Given the description of an element on the screen output the (x, y) to click on. 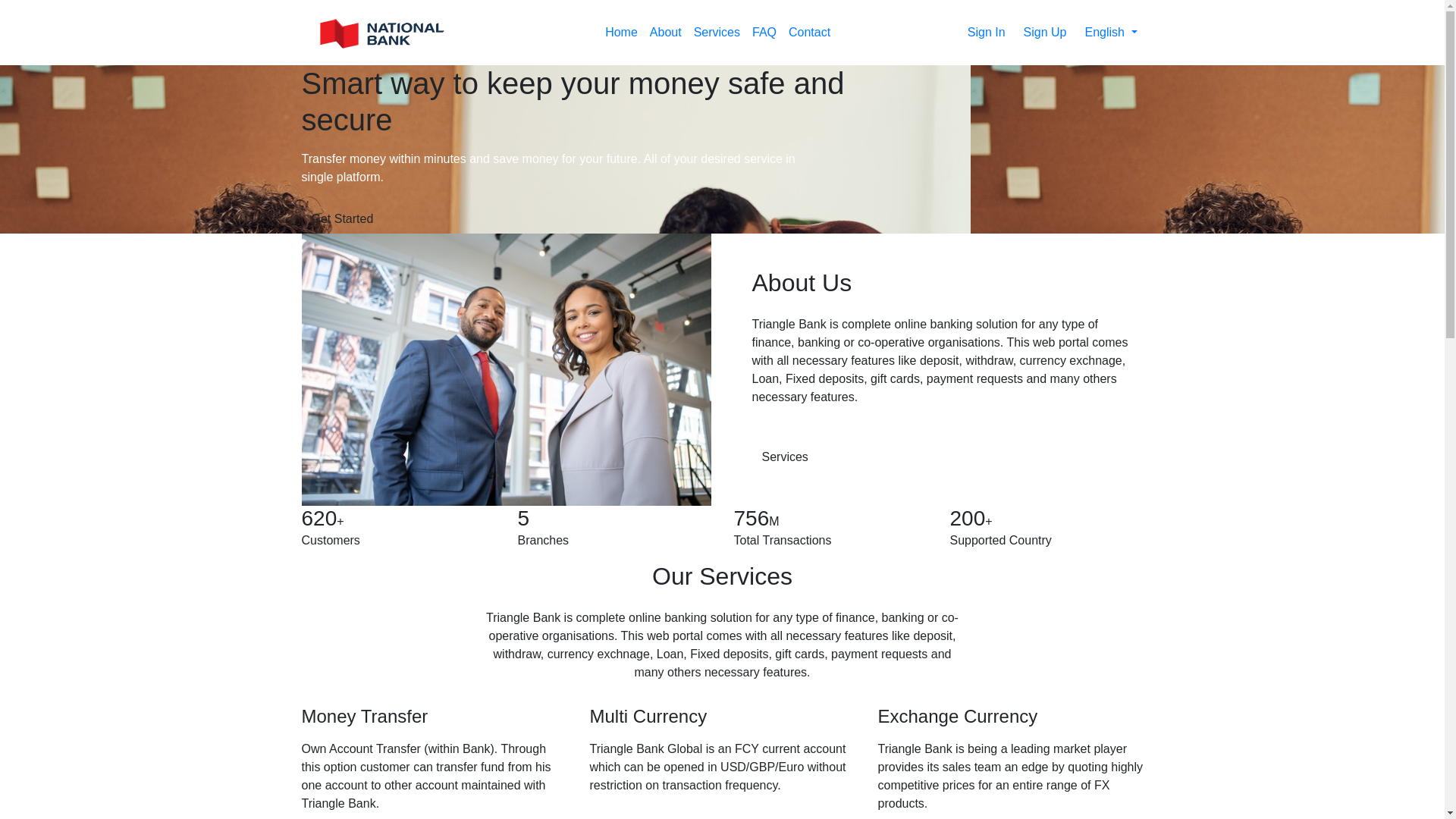
Services Element type: text (716, 32)
Sign In Element type: text (986, 32)
Sign Up Element type: text (1045, 32)
About Element type: text (665, 32)
English Element type: text (1110, 32)
Services Element type: text (791, 456)
Home Element type: text (621, 32)
FAQ Element type: text (764, 32)
Get Started Element type: text (345, 218)
Contact Element type: text (809, 32)
